Given the description of an element on the screen output the (x, y) to click on. 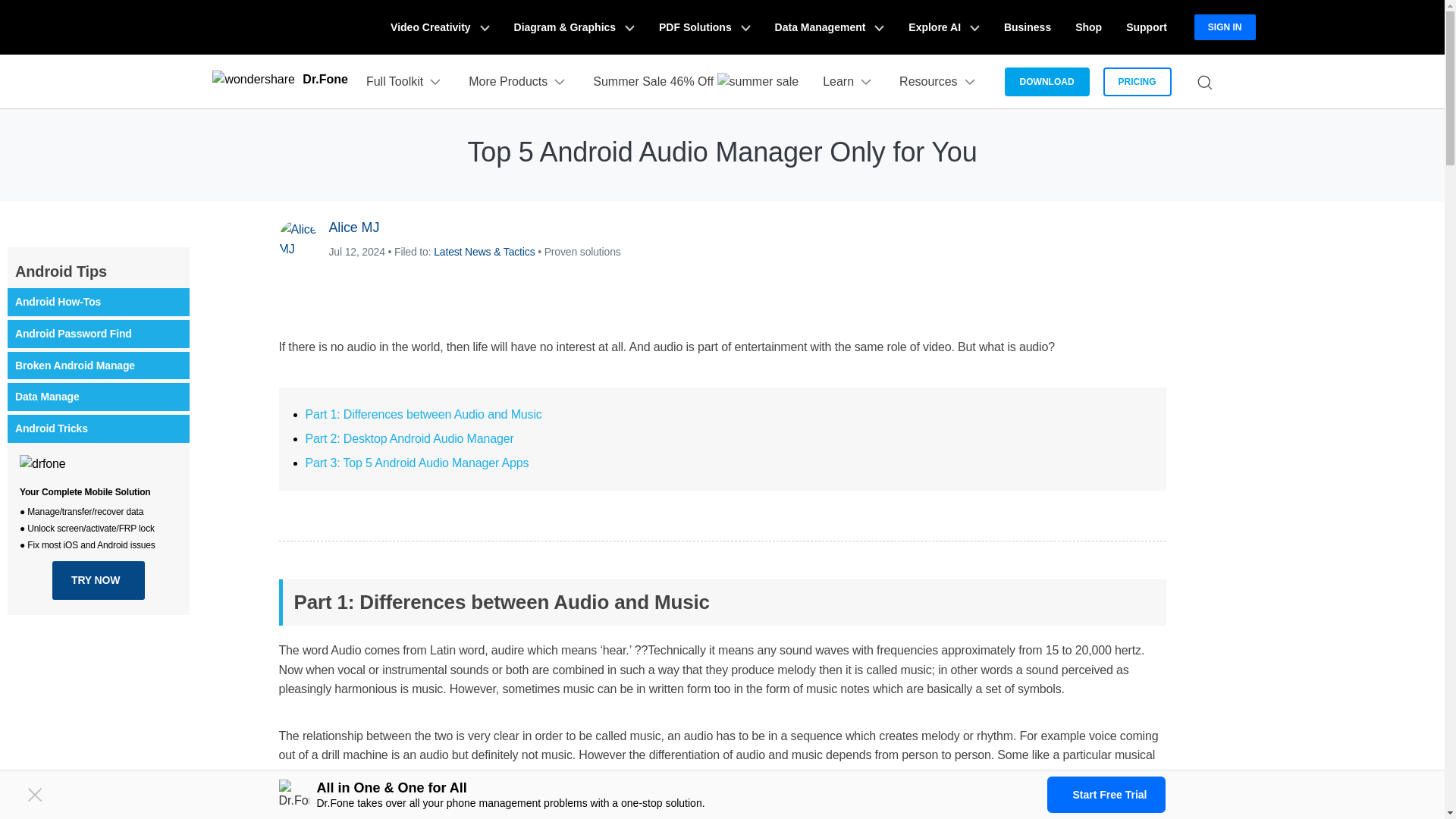
PDF Solutions (704, 27)
Video Creativity (439, 27)
Data Management (829, 27)
Explore AI (943, 27)
